Given the description of an element on the screen output the (x, y) to click on. 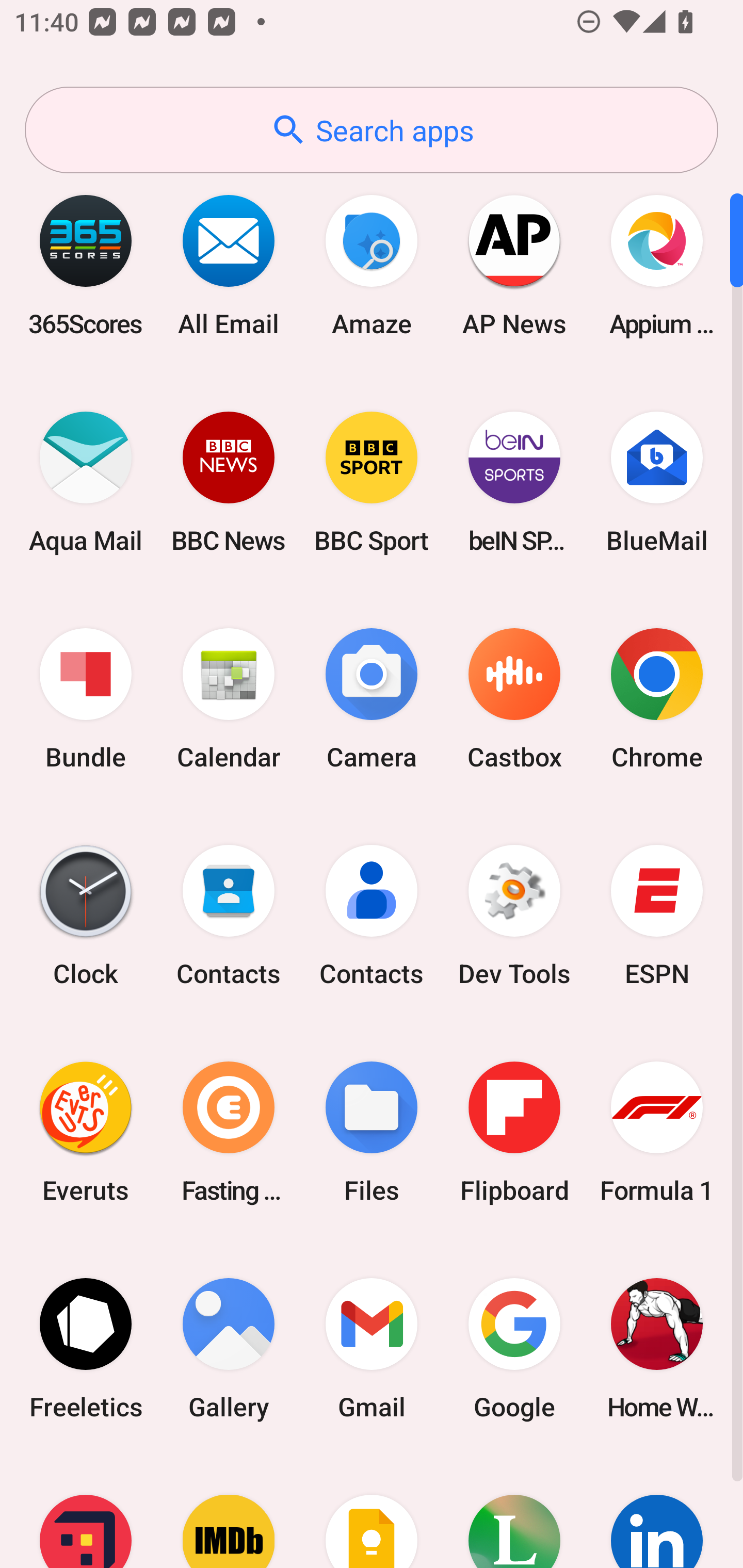
  Search apps (371, 130)
365Scores (85, 264)
All Email (228, 264)
Amaze (371, 264)
AP News (514, 264)
Appium Settings (656, 264)
Aqua Mail (85, 482)
BBC News (228, 482)
BBC Sport (371, 482)
beIN SPORTS (514, 482)
BlueMail (656, 482)
Bundle (85, 699)
Calendar (228, 699)
Camera (371, 699)
Castbox (514, 699)
Chrome (656, 699)
Clock (85, 915)
Contacts (228, 915)
Contacts (371, 915)
Dev Tools (514, 915)
ESPN (656, 915)
Everuts (85, 1131)
Fasting Coach (228, 1131)
Files (371, 1131)
Flipboard (514, 1131)
Formula 1 (656, 1131)
Freeletics (85, 1348)
Gallery (228, 1348)
Gmail (371, 1348)
Google (514, 1348)
Home Workout (656, 1348)
Hotels.com (85, 1512)
IMDb (228, 1512)
Keep Notes (371, 1512)
Lifesum (514, 1512)
LinkedIn (656, 1512)
